Given the description of an element on the screen output the (x, y) to click on. 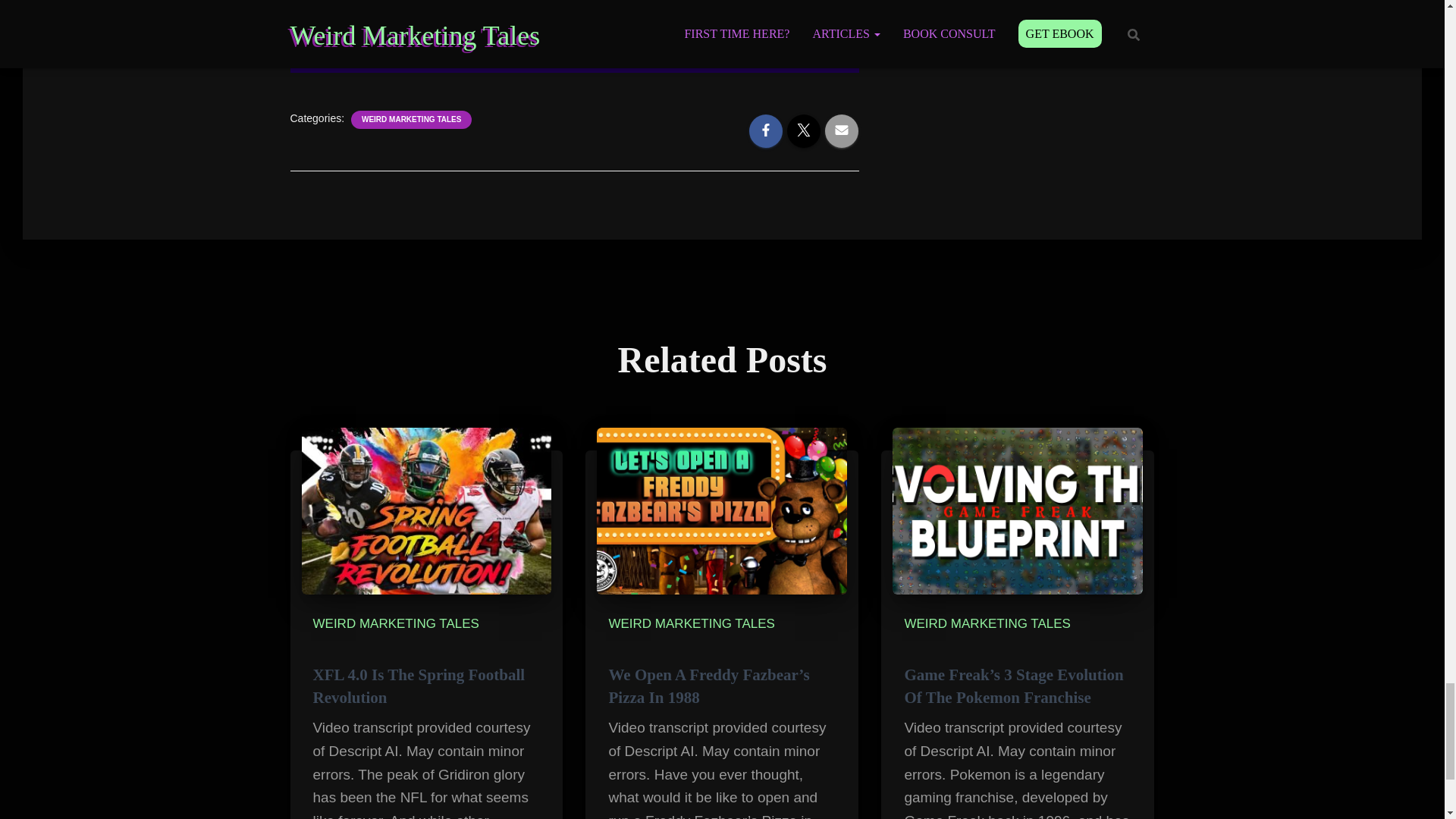
View all posts in Weird Marketing Tales (691, 623)
View all posts in Weird Marketing Tales (396, 623)
WEIRD MARKETING TALES (396, 623)
XFL 4.0 Is The Spring Football Revolution (418, 685)
WEIRD MARKETING TALES (411, 119)
XFL 4.0 Is The Spring Football Revolution (418, 685)
XFL 4.0 Is The Spring Football Revolution (426, 510)
